Given the description of an element on the screen output the (x, y) to click on. 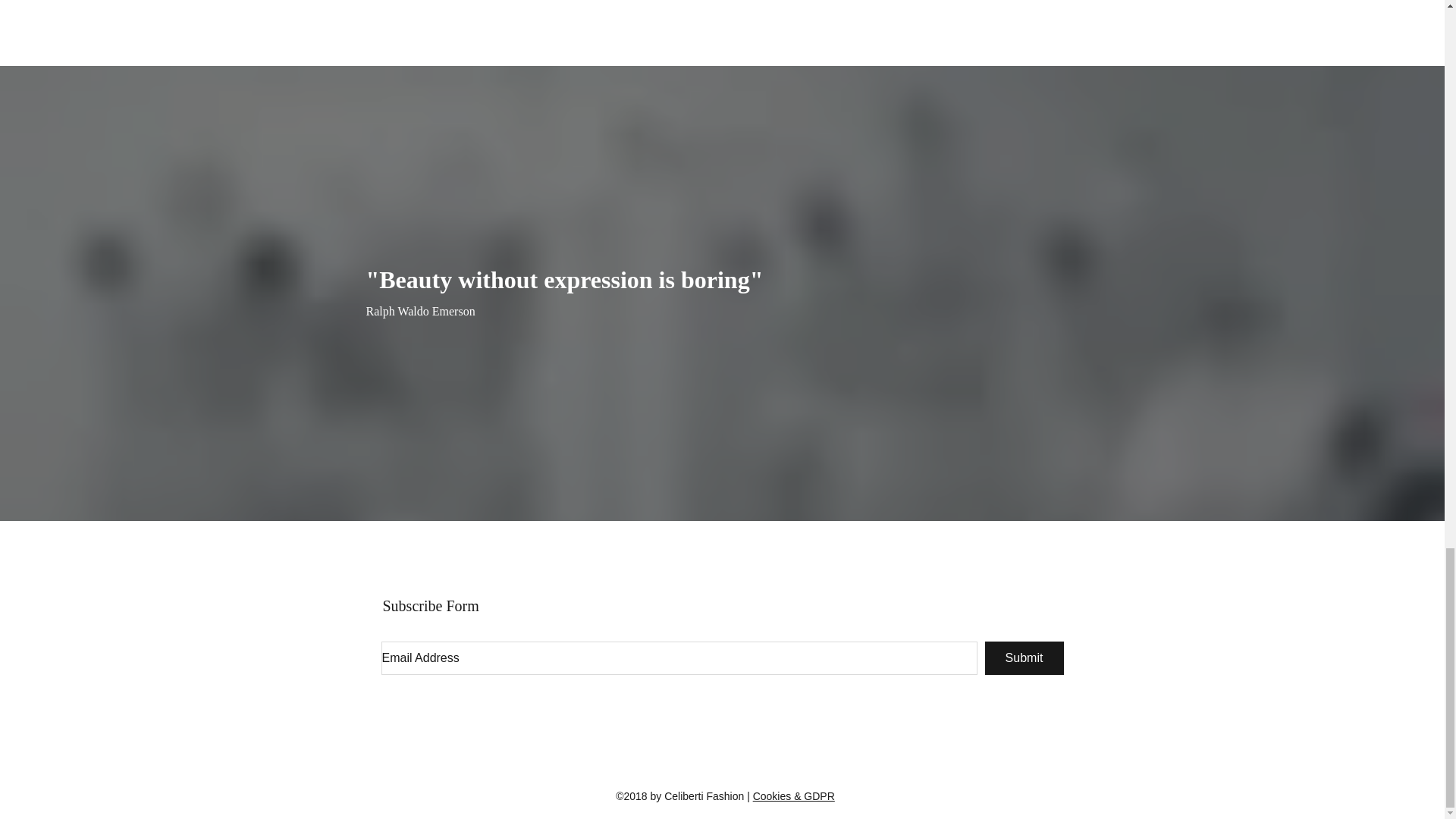
Submit (1023, 657)
